Given the description of an element on the screen output the (x, y) to click on. 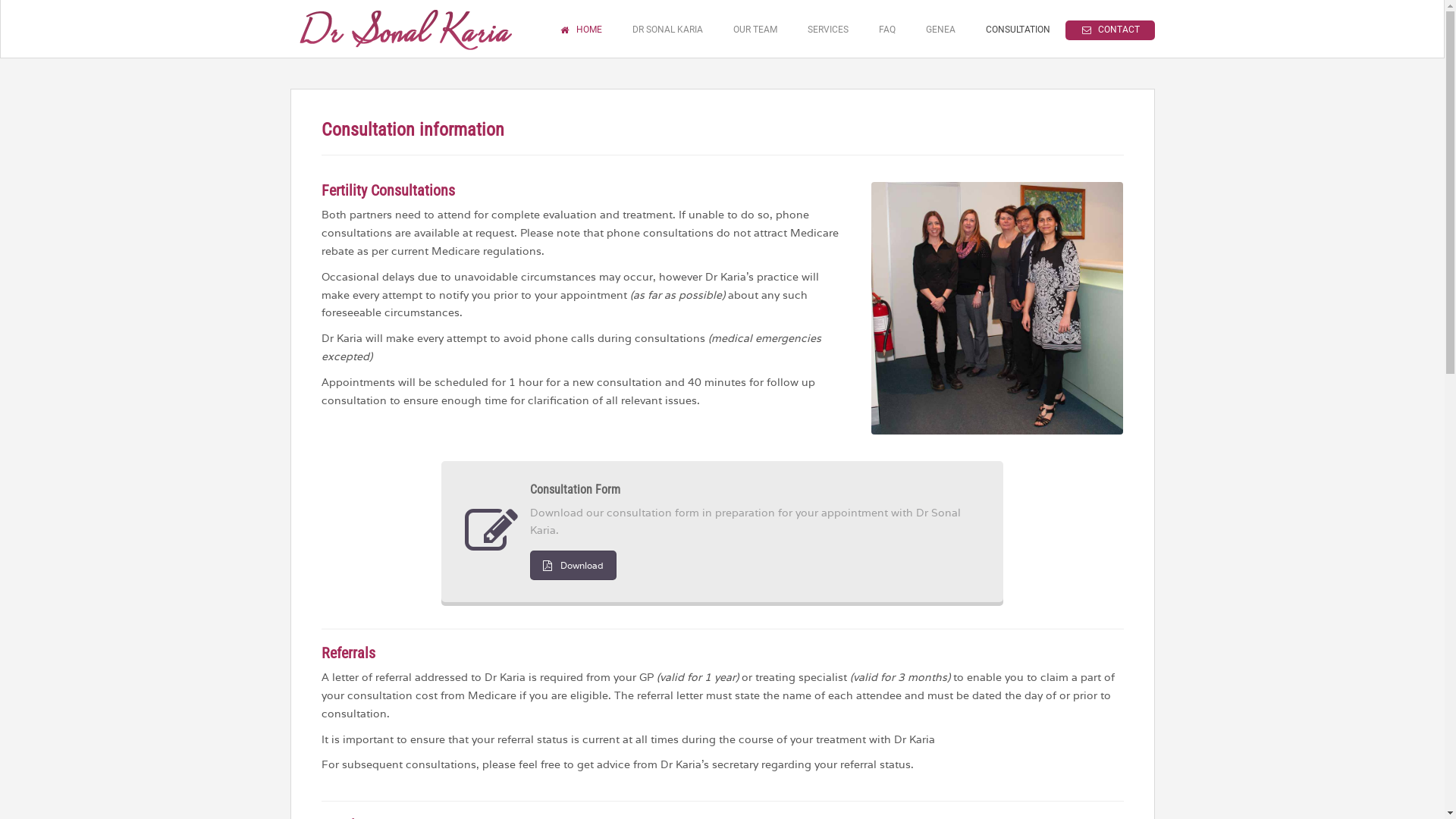
consultation-img Element type: hover (997, 308)
Download Element type: text (573, 565)
SERVICES Element type: text (827, 30)
CONTACT Element type: text (1109, 30)
OUR TEAM Element type: text (755, 30)
FAQ Element type: text (886, 30)
GENEA Element type: text (940, 30)
CONSULTATION Element type: text (1017, 30)
DR SONAL KARIA Element type: text (667, 30)
HOME Element type: text (580, 30)
